Given the description of an element on the screen output the (x, y) to click on. 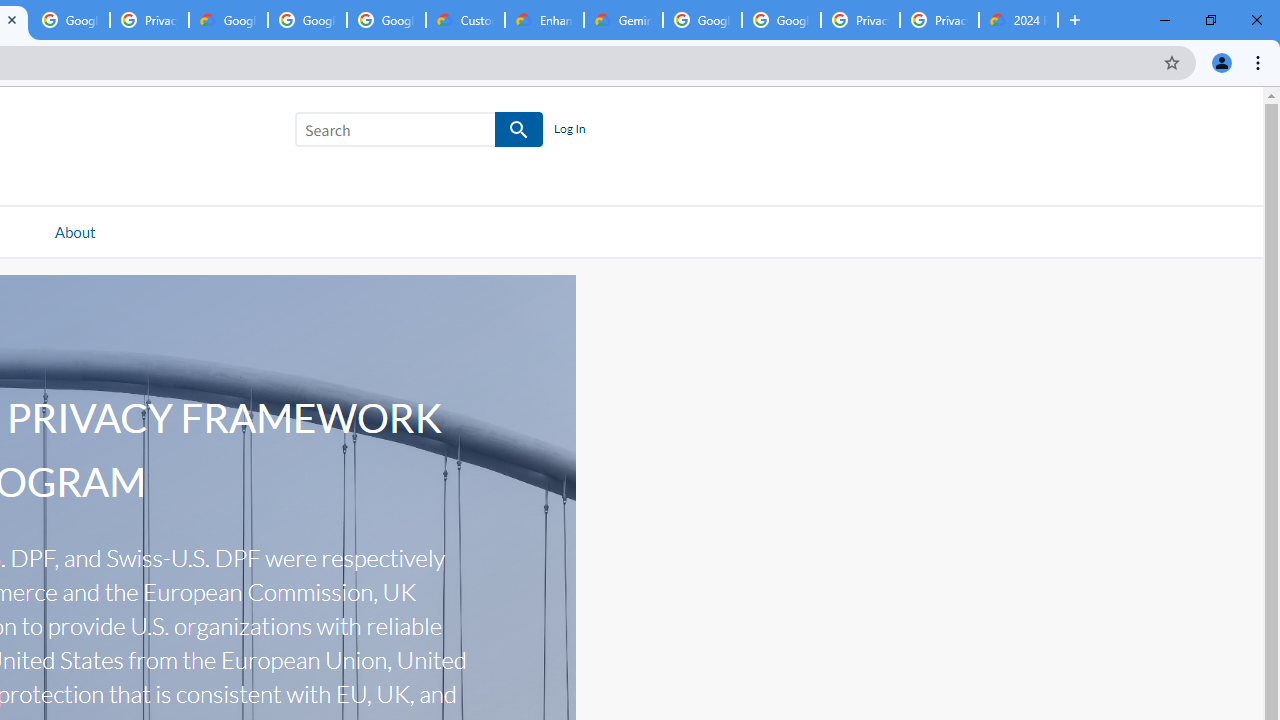
Google Cloud Platform (781, 20)
Search SEARCH (419, 133)
Google Cloud Platform (702, 20)
Log In (569, 129)
Gemini for Business and Developers | Google Cloud (623, 20)
Customer Care | Google Cloud (465, 20)
